Given the description of an element on the screen output the (x, y) to click on. 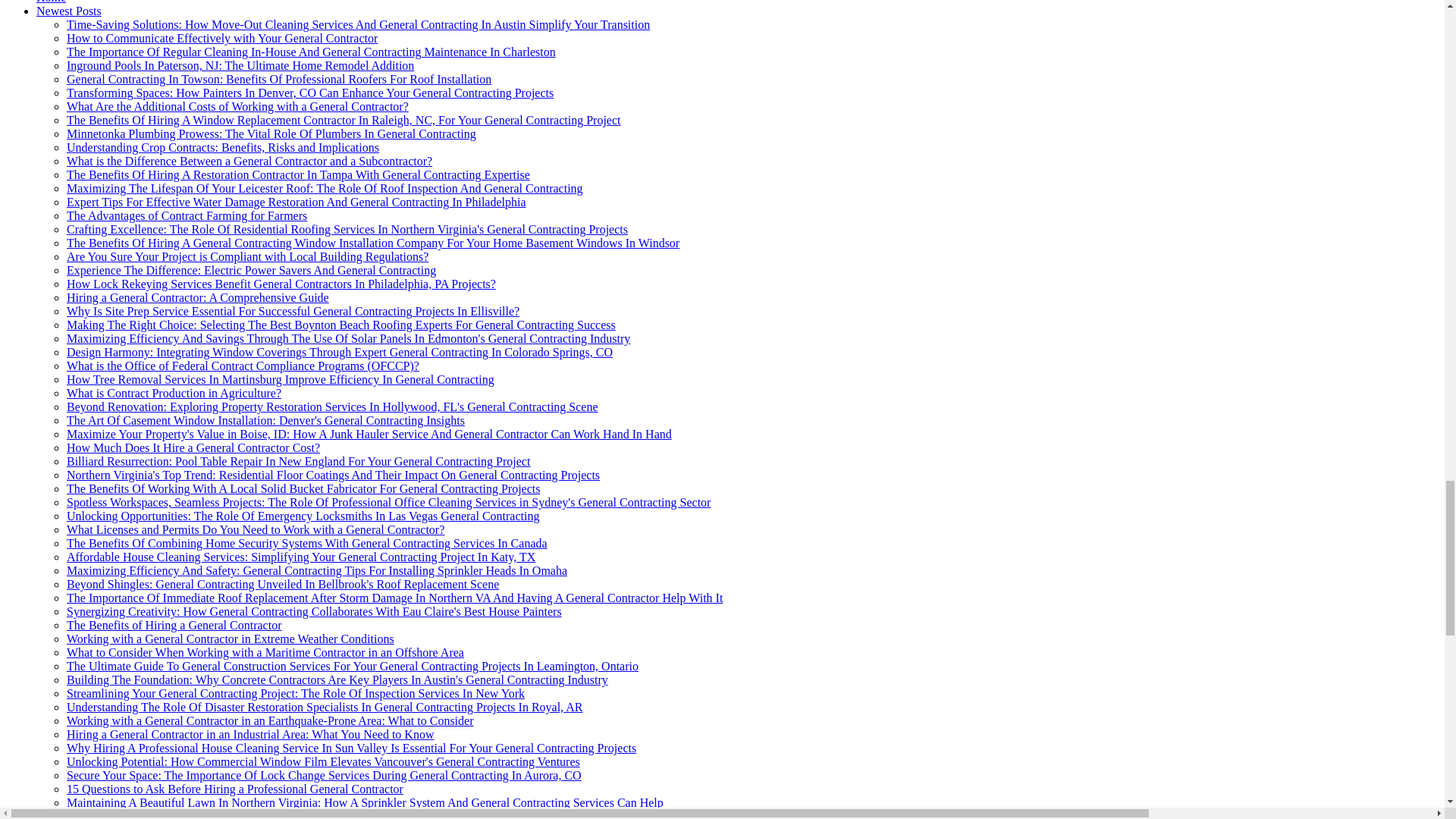
How to Communicate Effectively with Your General Contractor (221, 38)
Home (50, 2)
